Given the description of an element on the screen output the (x, y) to click on. 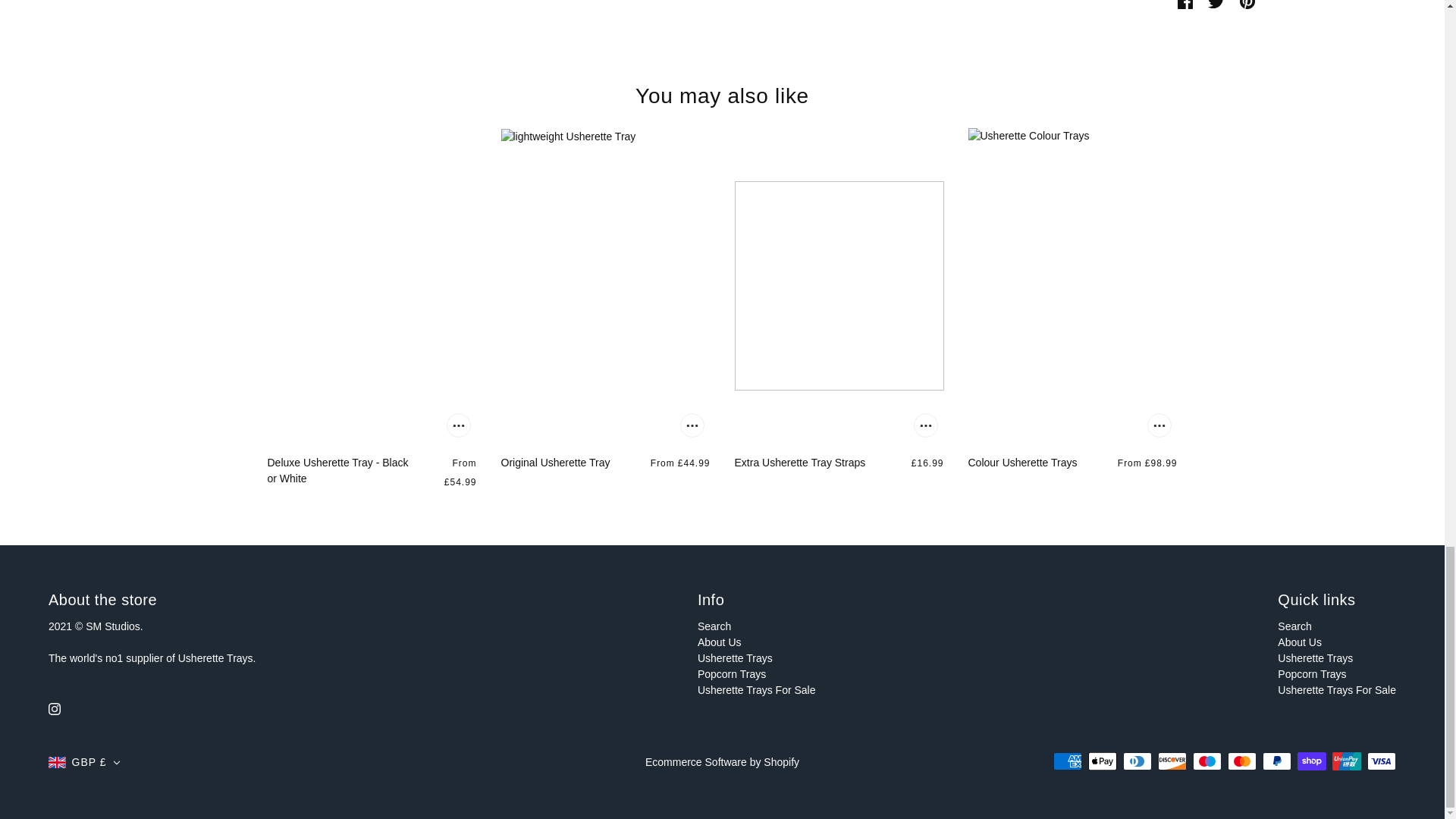
Usherette Trays (1315, 657)
Usherette Trays For Sale (756, 689)
Diners Club (1136, 761)
Usherette Trays For Sale (1337, 689)
Popcorn Trays (1311, 674)
Popcorn Trays (731, 674)
Usherette Trays (735, 657)
About Us (1300, 642)
Search (713, 625)
About Us (719, 642)
Apple Pay (1101, 761)
Search (1294, 625)
American Express (1066, 761)
